Given the description of an element on the screen output the (x, y) to click on. 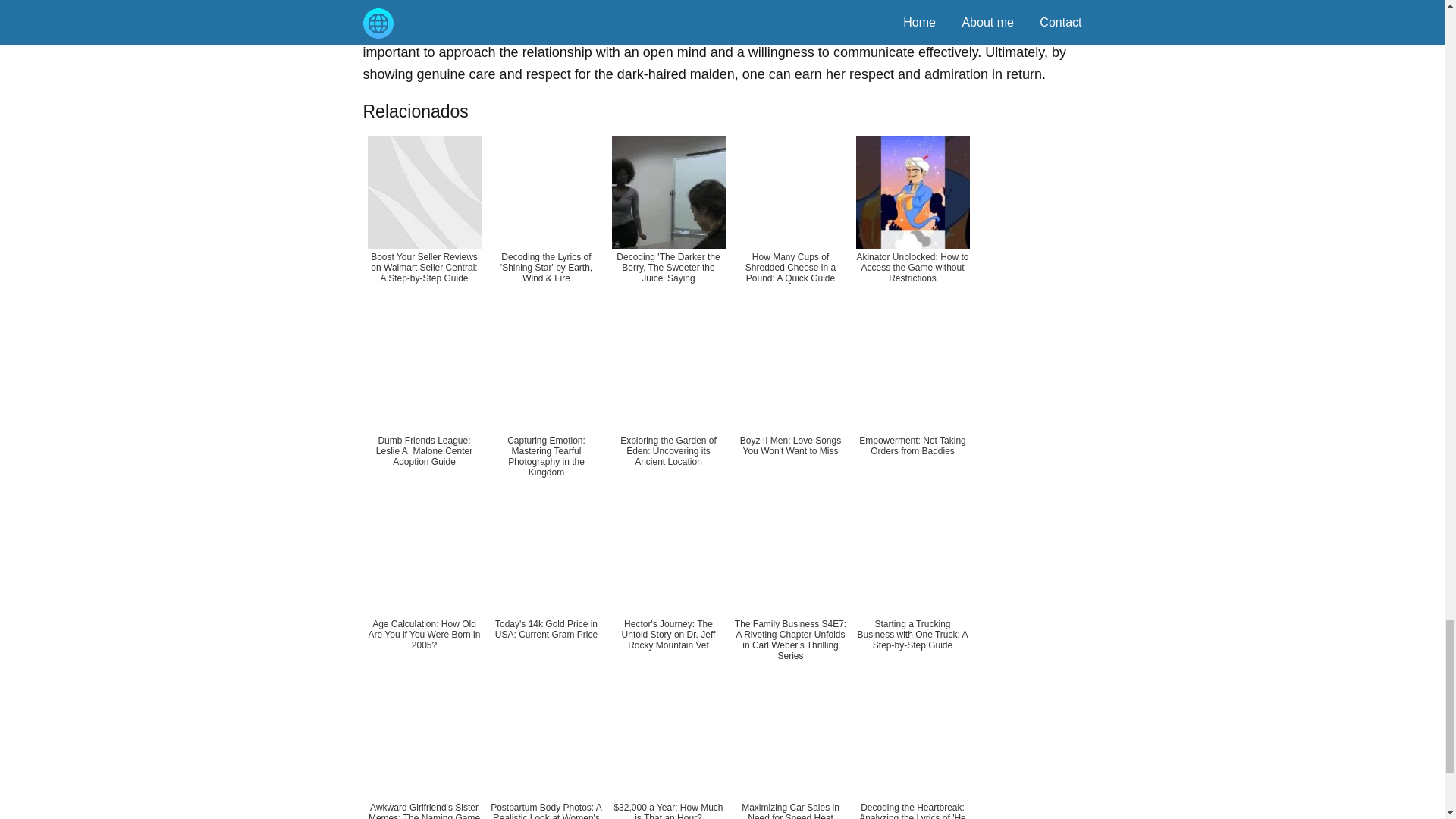
Maximizing Car Sales in Need for Speed Heat (790, 750)
Awkward Girlfriend's Sister Memes: The Naming Game (423, 750)
